Given the description of an element on the screen output the (x, y) to click on. 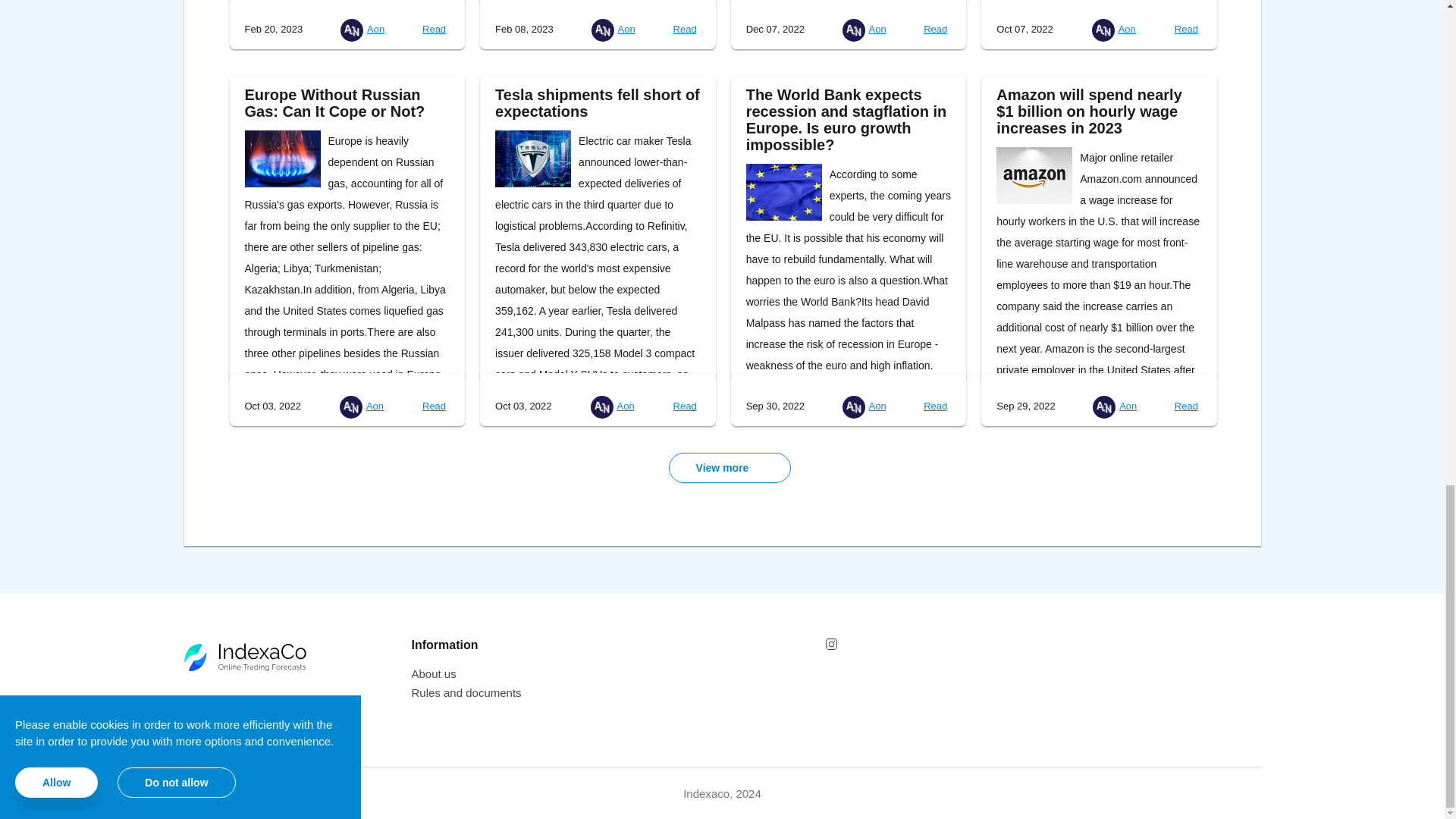
Amazon (1033, 175)
Natural Gas (282, 158)
Tesla Motors (532, 158)
